Given the description of an element on the screen output the (x, y) to click on. 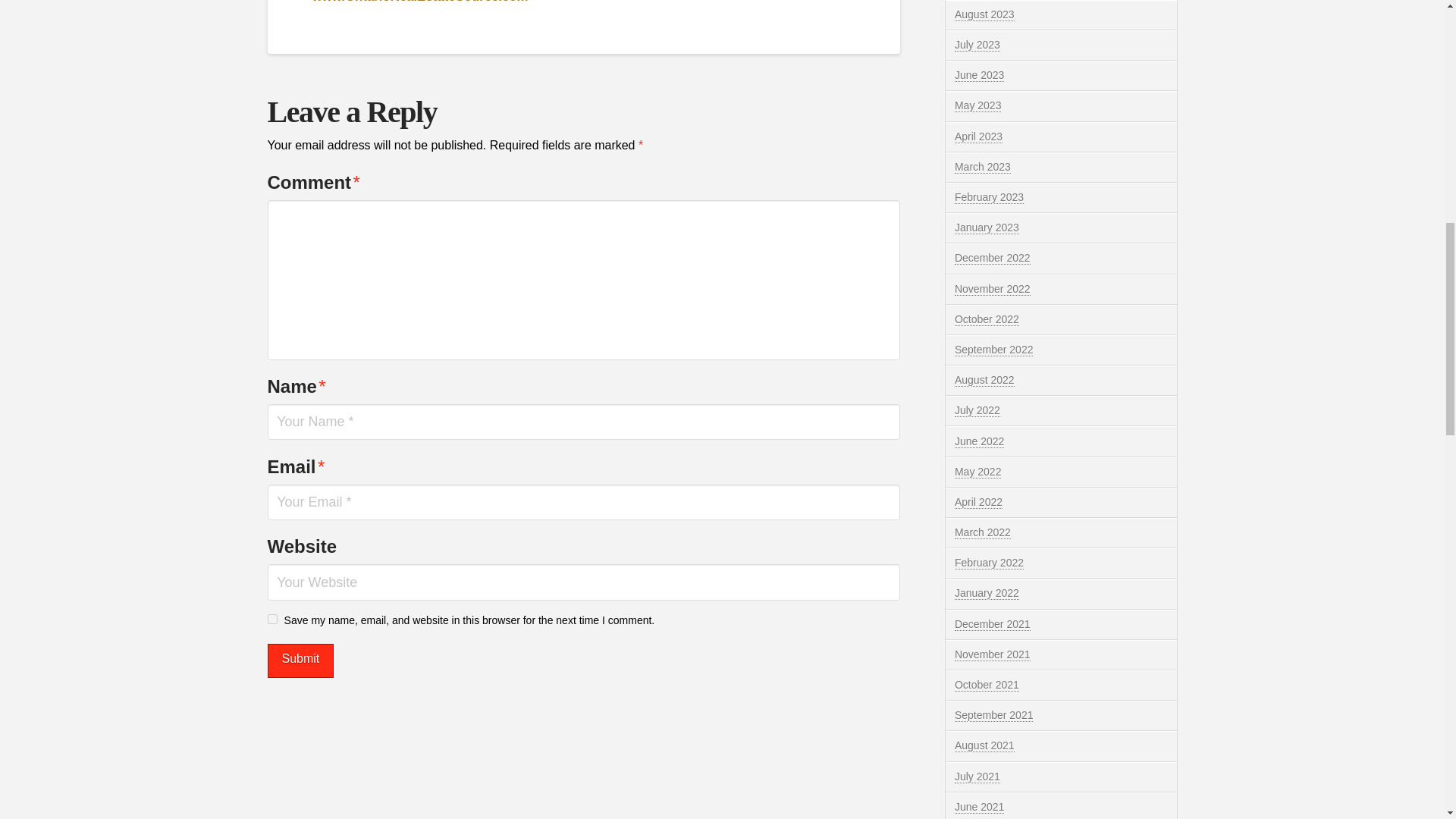
Submit (299, 660)
yes (271, 619)
